Given the description of an element on the screen output the (x, y) to click on. 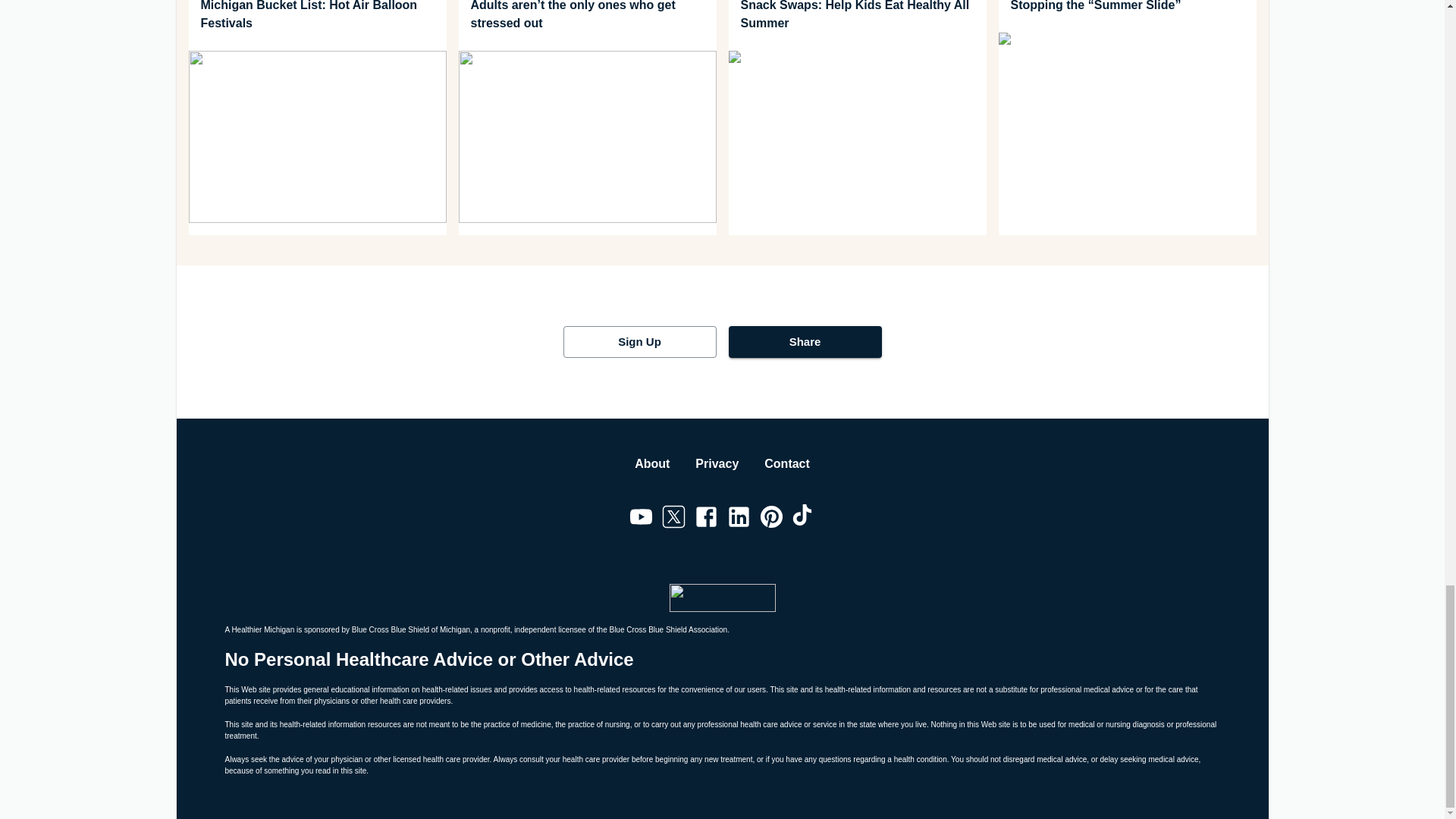
Snack Swaps: Help Kids Eat Healthy All Summer (856, 16)
Michigan Bucket List: Hot Air Balloon Festivals (316, 16)
